Given the description of an element on the screen output the (x, y) to click on. 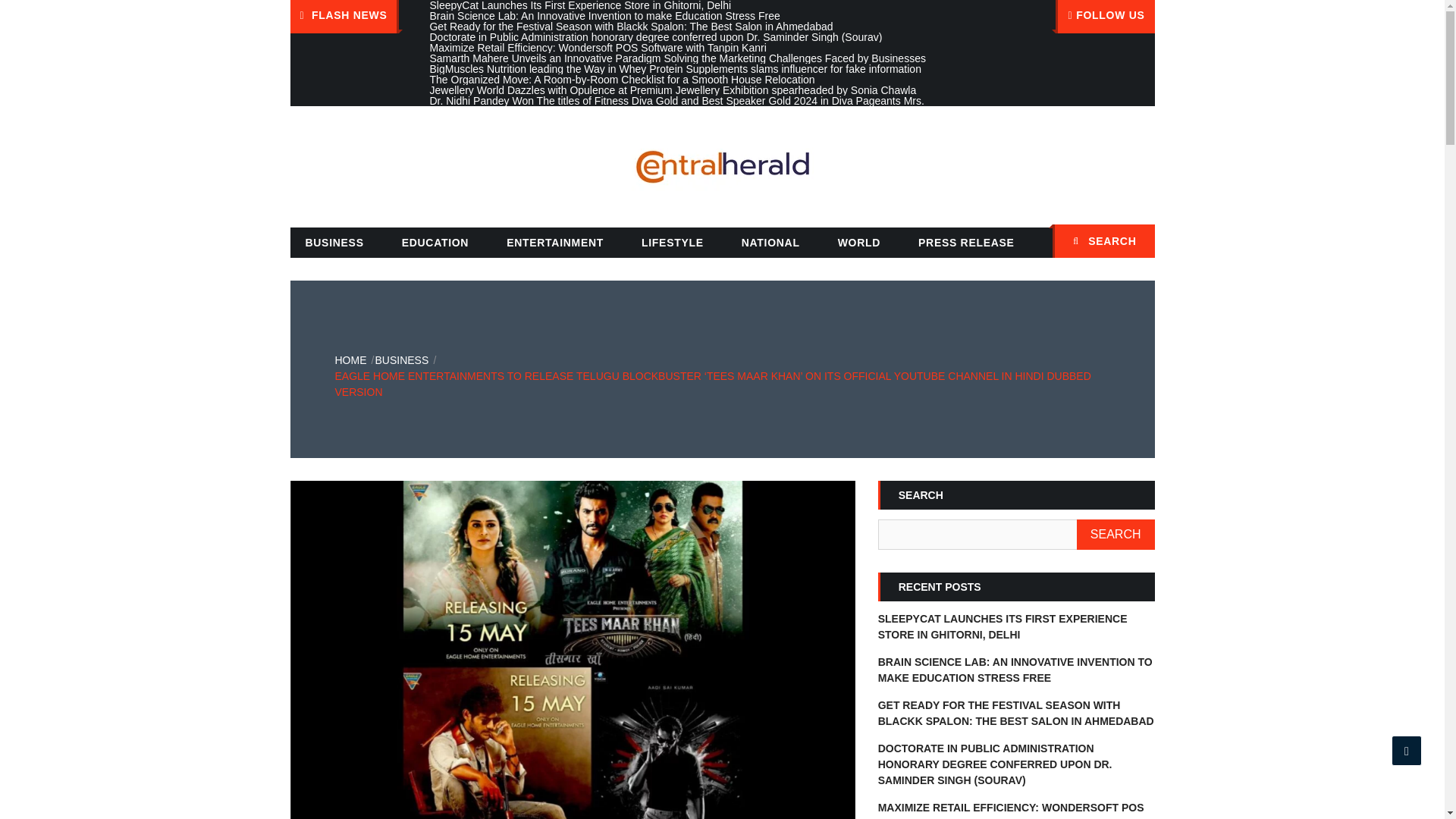
FOLLOW US (1104, 16)
LIFESTYLE (672, 242)
BUSINESS (333, 242)
ENTERTAINMENT (555, 242)
HOME (350, 359)
WORLD (858, 242)
PRESS RELEASE (965, 242)
Search (1135, 242)
Search (1135, 242)
SEARCH (1103, 240)
Go to Top (1406, 750)
NATIONAL (770, 242)
